Given the description of an element on the screen output the (x, y) to click on. 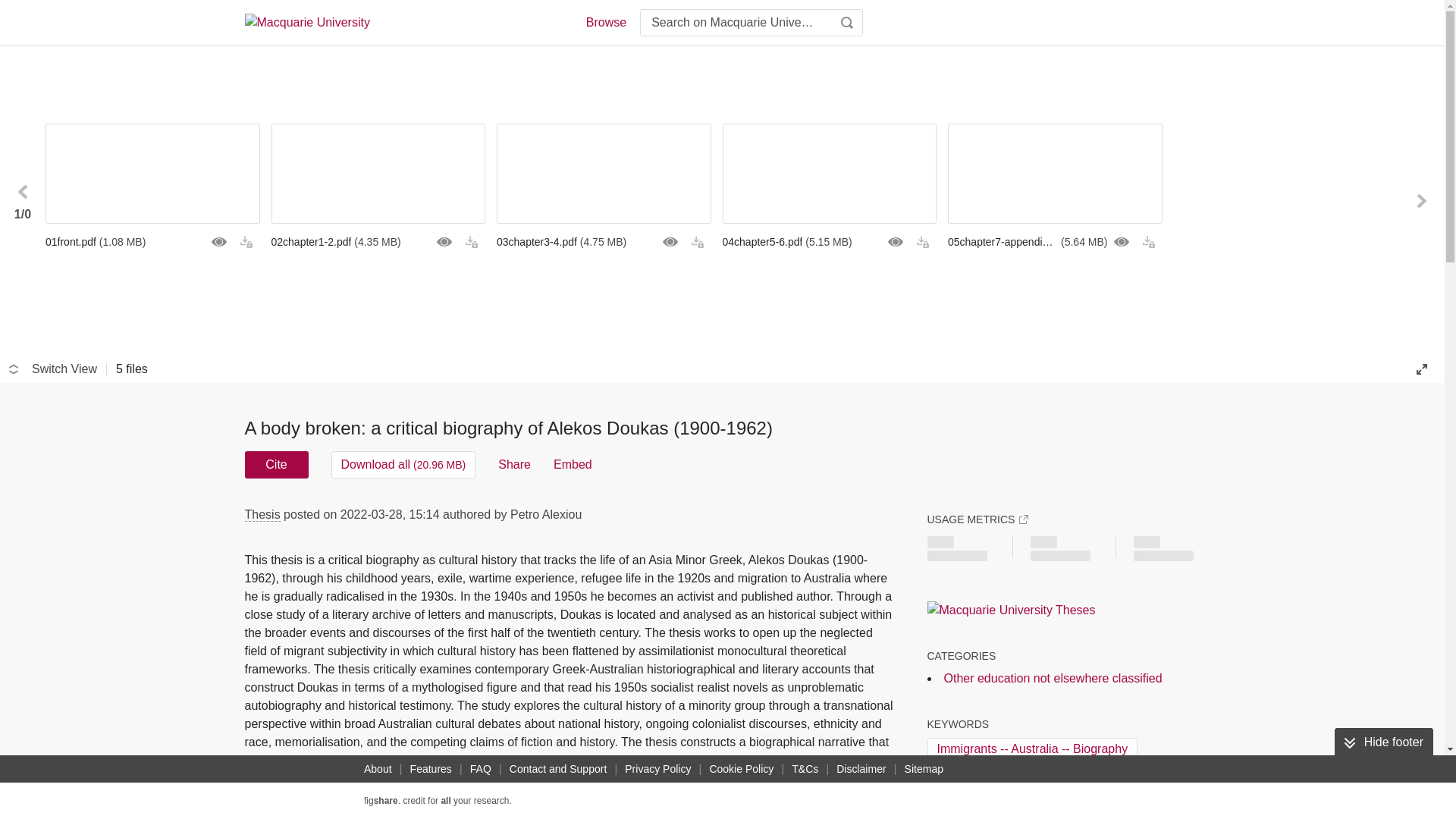
Immigrants -- Australia -- Biography (1031, 748)
04chapter5-6.pdf (829, 241)
Browse (605, 22)
Other education not elsewhere classified (1052, 677)
02chapter1-2.pdf (378, 241)
Cite (275, 464)
Share (514, 464)
03chapter3-4.pdf (603, 241)
Switch View (52, 369)
Embed (572, 464)
